Given the description of an element on the screen output the (x, y) to click on. 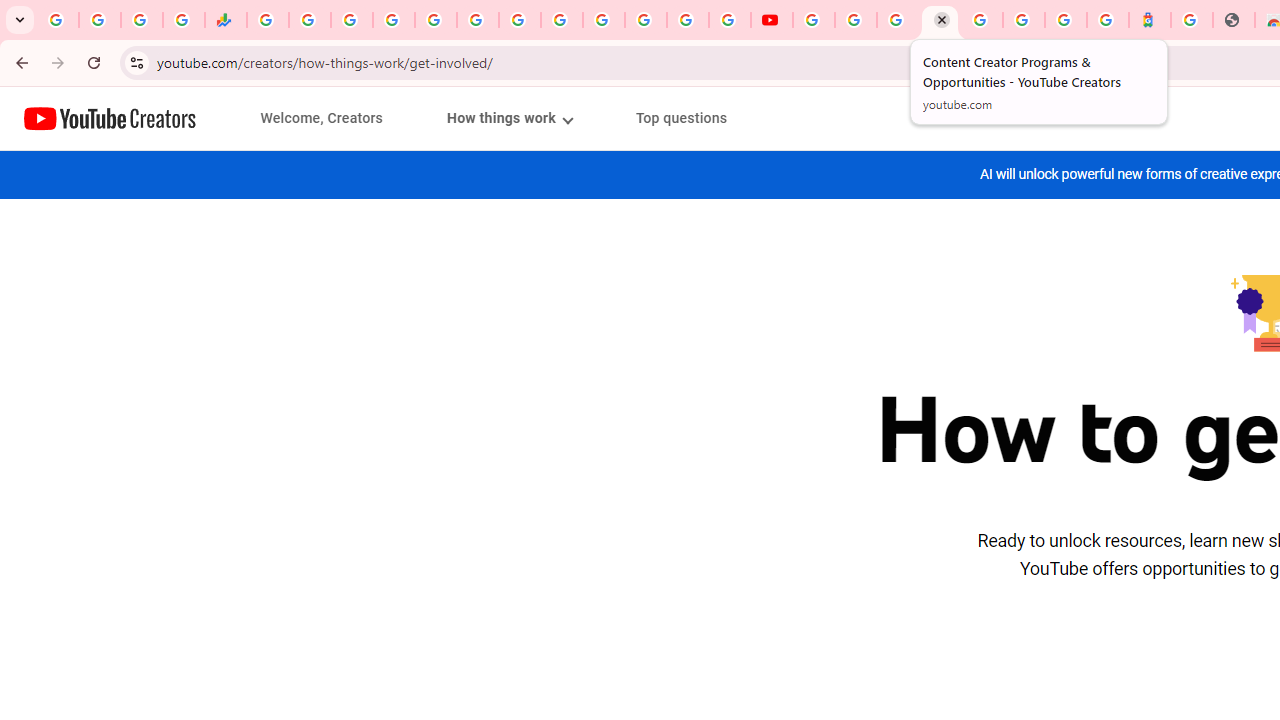
YouTube (813, 20)
1 (509, 118)
Google Workspace Admin Community (58, 20)
YouTube (772, 20)
Privacy Checkup (730, 20)
Home page (110, 118)
